Given the description of an element on the screen output the (x, y) to click on. 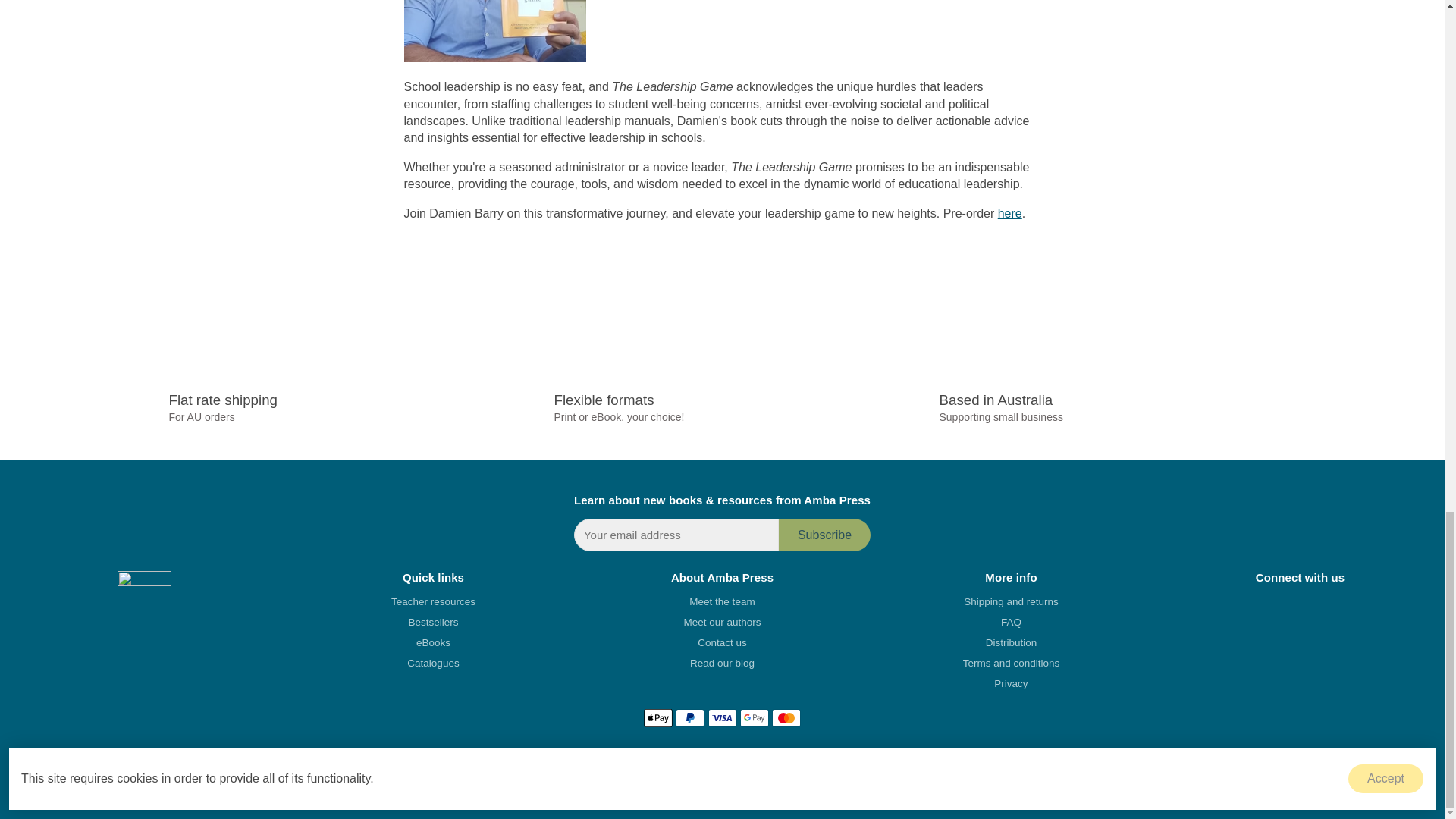
Google Pay (753, 718)
Apple Pay (657, 718)
Mastercard (785, 718)
PayPal (689, 718)
The Leadership Game (1009, 213)
Visa (721, 718)
